Given the description of an element on the screen output the (x, y) to click on. 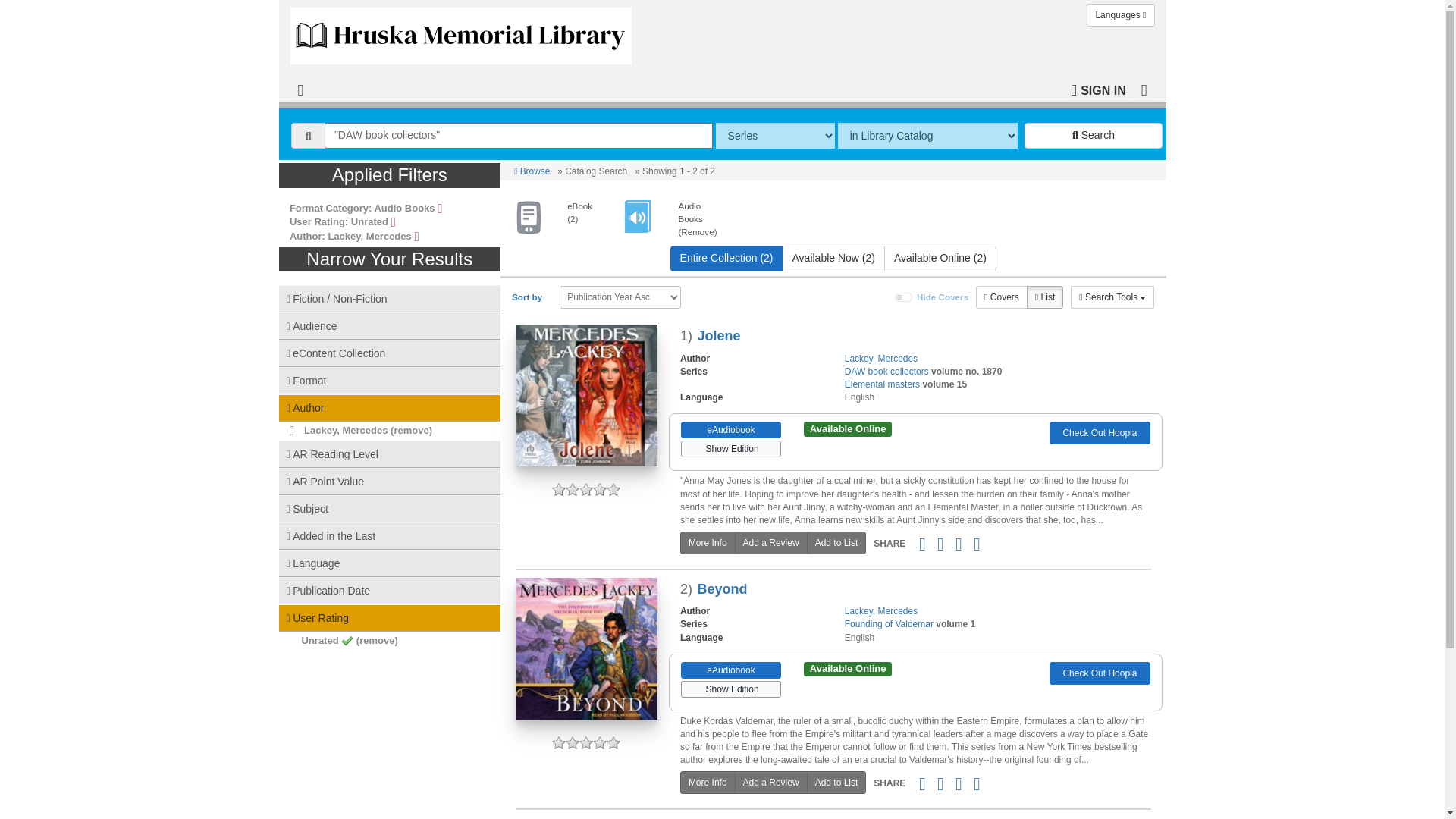
Remove Filter (666, 218)
"DAW book collectors" (518, 135)
Browse the catalog (531, 171)
on (903, 297)
 Search (1093, 135)
Return to Catalog Home (464, 32)
Languages  (1120, 15)
Login (1098, 88)
The method of searching. (775, 135)
Show Menu (1144, 88)
Covers (1001, 296)
Lists (1044, 296)
SIGN IN (1098, 88)
Browse the Catalog (300, 88)
